Given the description of an element on the screen output the (x, y) to click on. 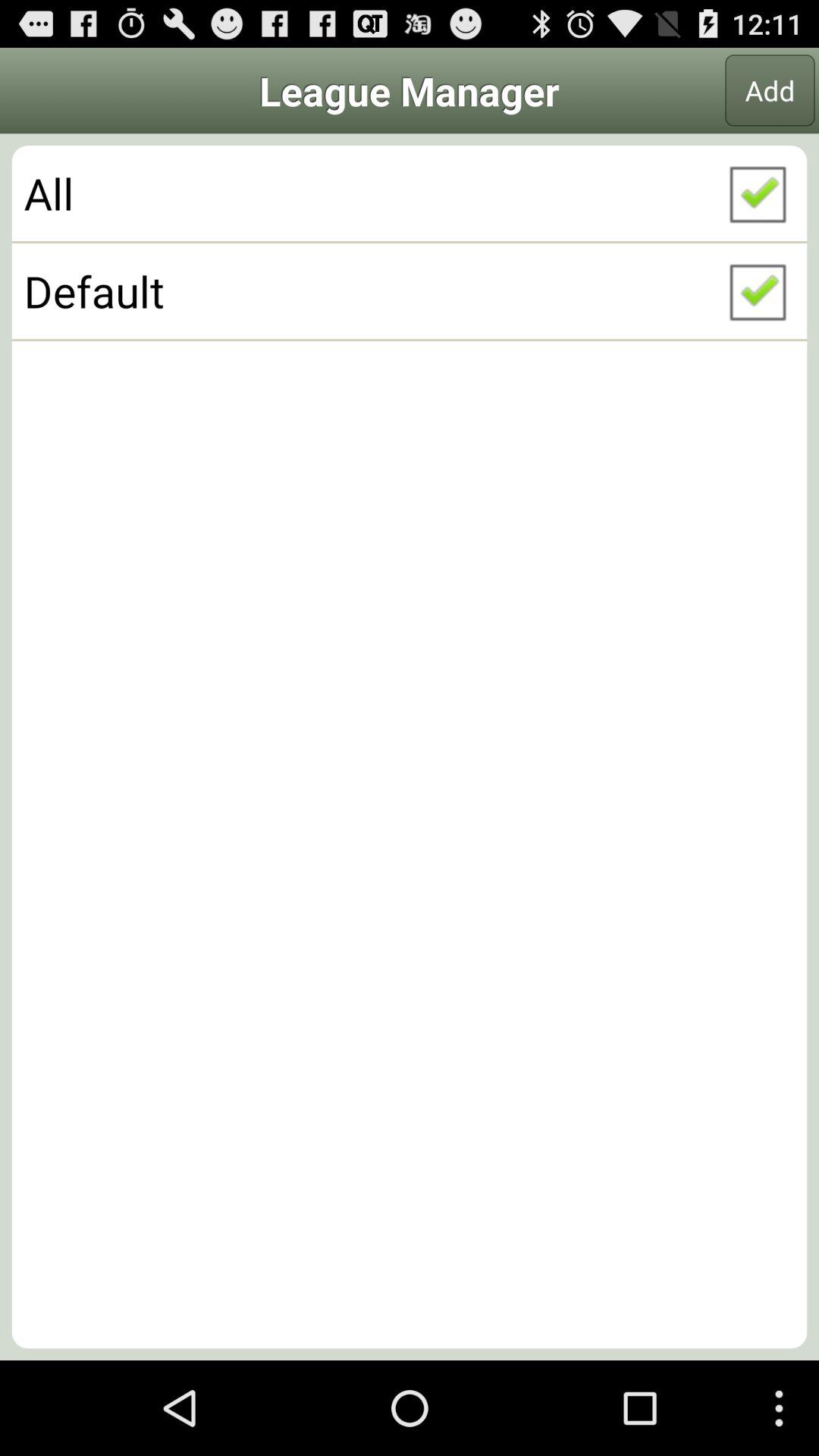
click item above the all (770, 90)
